Given the description of an element on the screen output the (x, y) to click on. 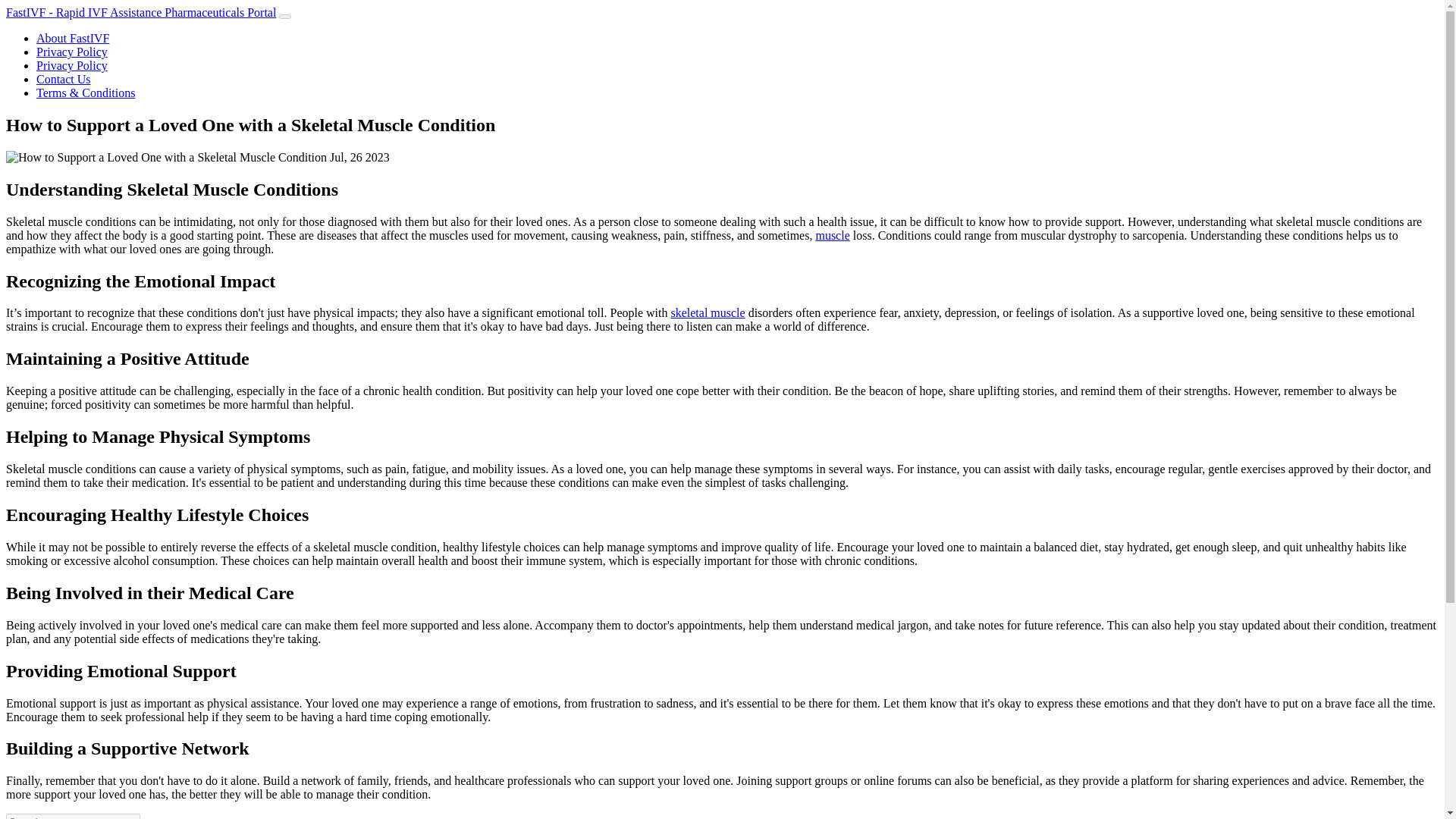
Contact Us (63, 78)
About FastIVF (72, 38)
muscle (831, 235)
Privacy Policy (71, 51)
FastIVF - Rapid IVF Assistance Pharmaceuticals Portal (140, 11)
AKT controls protein synthesis and oxidative metabolism ... (706, 312)
skeletal muscle (706, 312)
Privacy Policy (71, 65)
